Given the description of an element on the screen output the (x, y) to click on. 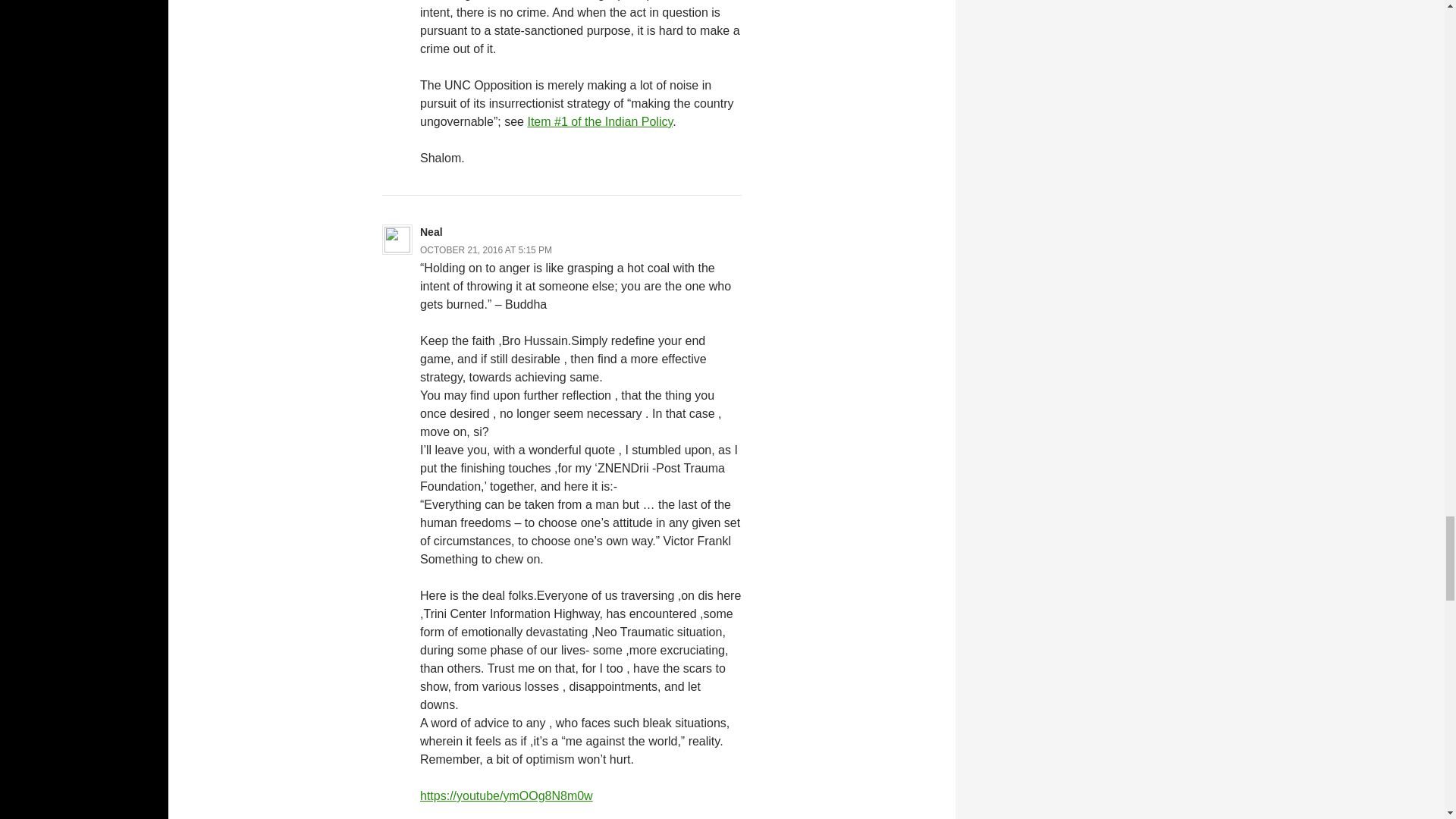
OCTOBER 21, 2016 AT 5:15 PM (485, 249)
